Given the description of an element on the screen output the (x, y) to click on. 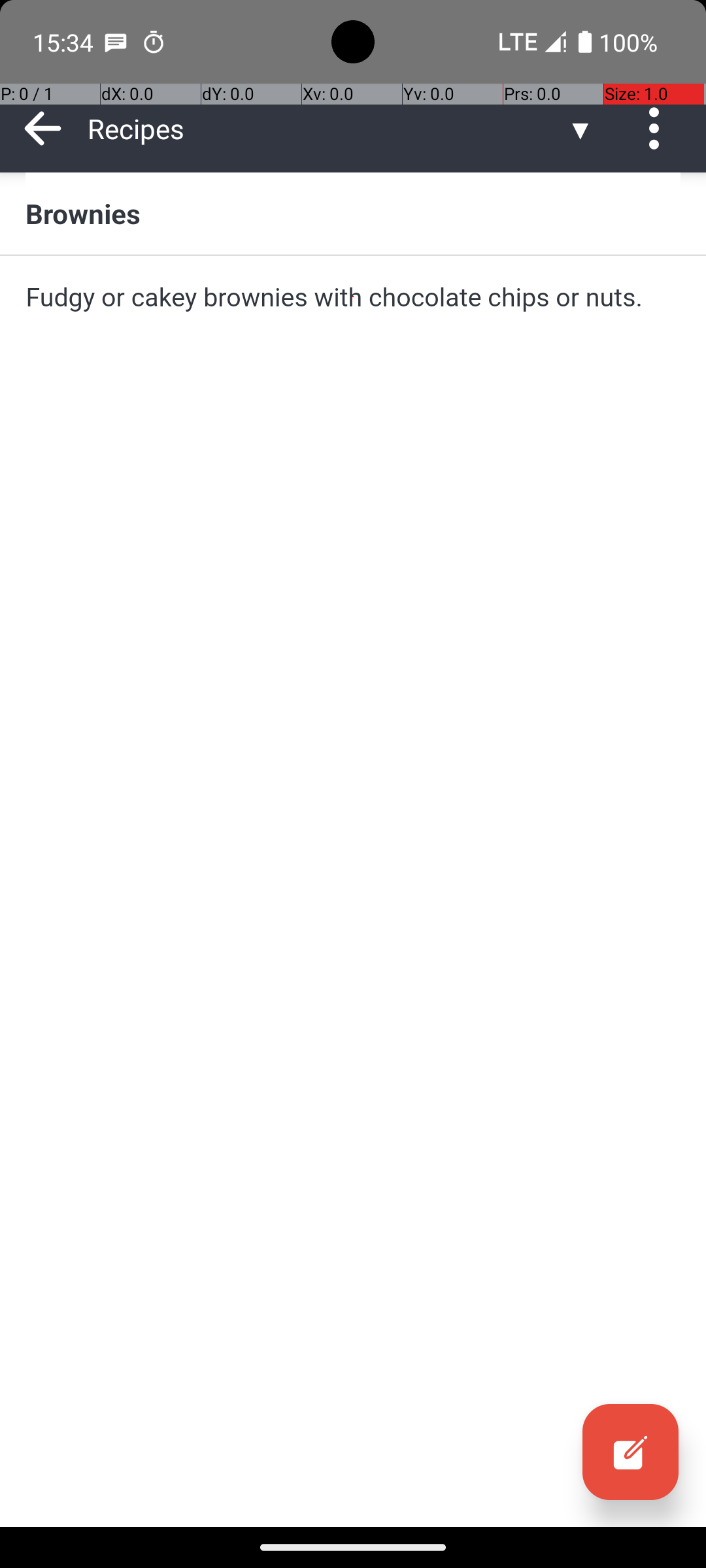
Brownies Element type: android.widget.EditText (352, 213)
Fudgy or cakey brownies with chocolate chips or nuts. Element type: android.widget.TextView (352, 296)
